Given the description of an element on the screen output the (x, y) to click on. 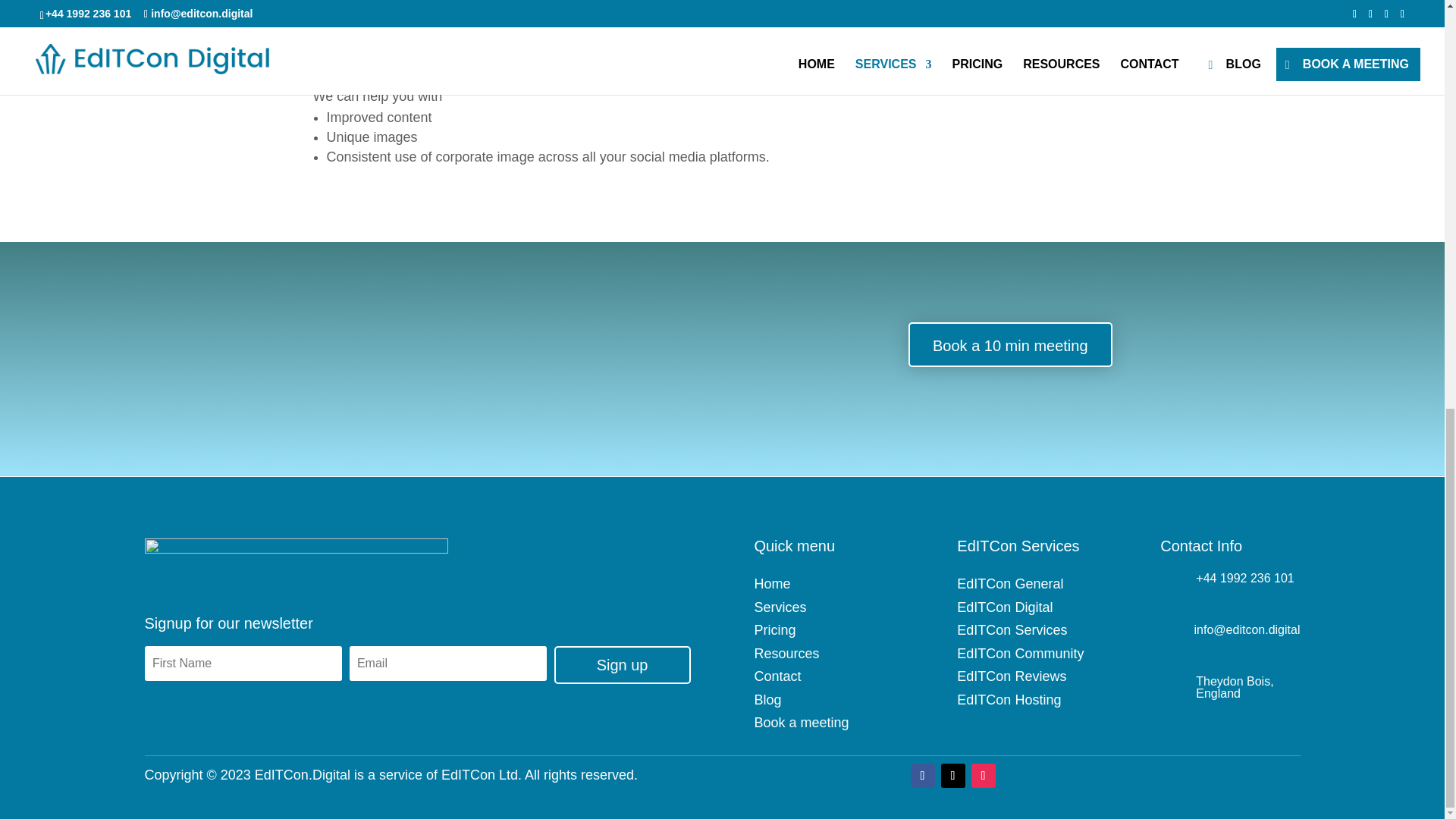
EdITCon General (1009, 583)
EdITCon Services (1011, 630)
Follow on X (952, 775)
EdITCon Reviews (1010, 676)
Book a meeting (801, 722)
Pricing (774, 630)
Sign up (622, 664)
EdITCon Digital Logo in white (295, 560)
Follow on Instagram (983, 775)
Services (780, 607)
